Given the description of an element on the screen output the (x, y) to click on. 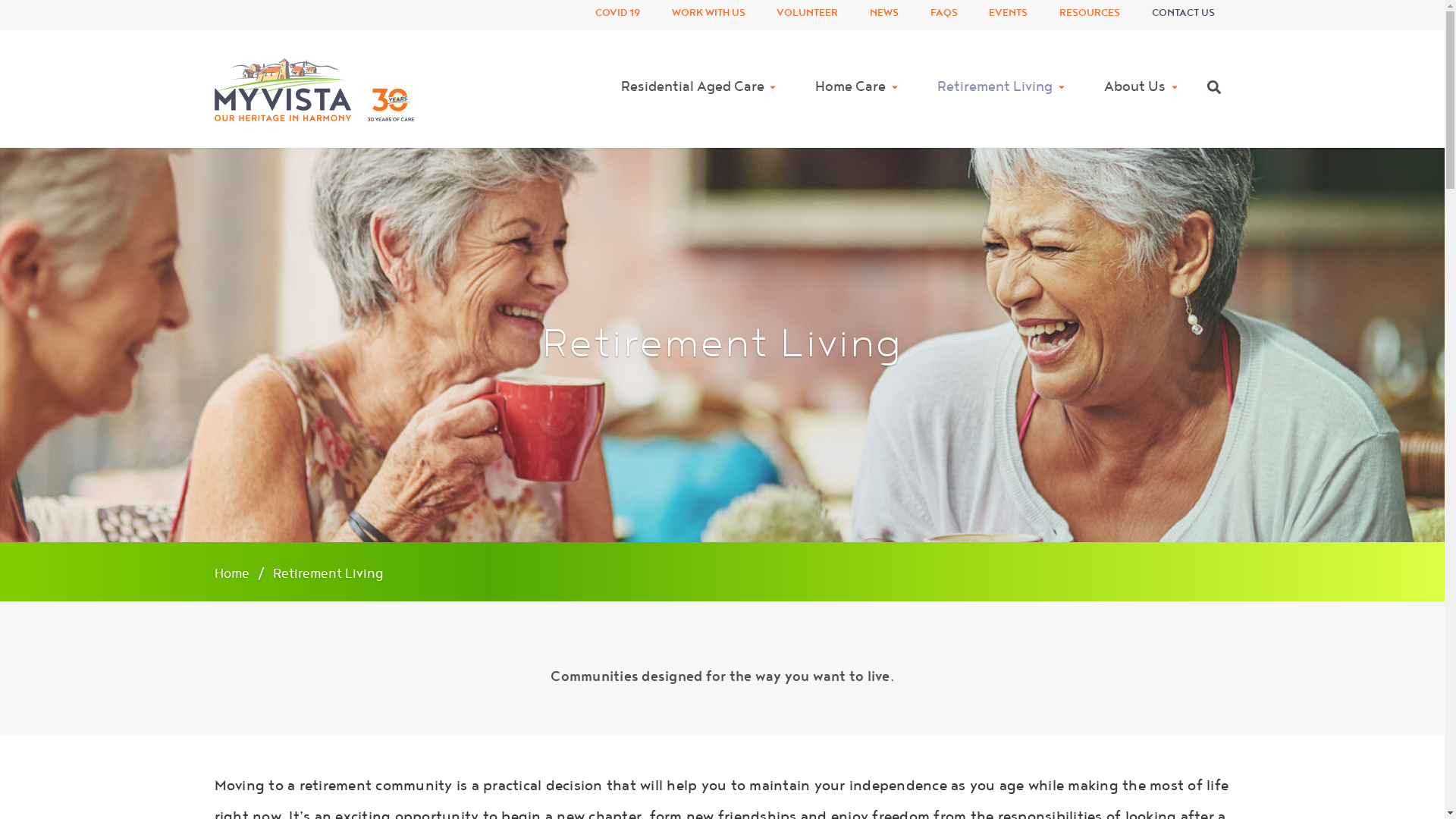
Retirement Living Element type: text (328, 573)
Retirement Living Element type: text (1002, 89)
Home Element type: text (232, 573)
COVID 19 Element type: text (617, 15)
WORK WITH US Element type: text (708, 15)
NEWS Element type: text (884, 15)
Home Care Element type: text (857, 89)
EVENTS Element type: text (1008, 15)
About Us Element type: text (1141, 89)
FAQS Element type: text (943, 15)
VOLUNTEER Element type: text (807, 15)
Residential Aged Care Element type: text (699, 89)
RESOURCES Element type: text (1089, 15)
CONTACT US Element type: text (1182, 15)
